Given the description of an element on the screen output the (x, y) to click on. 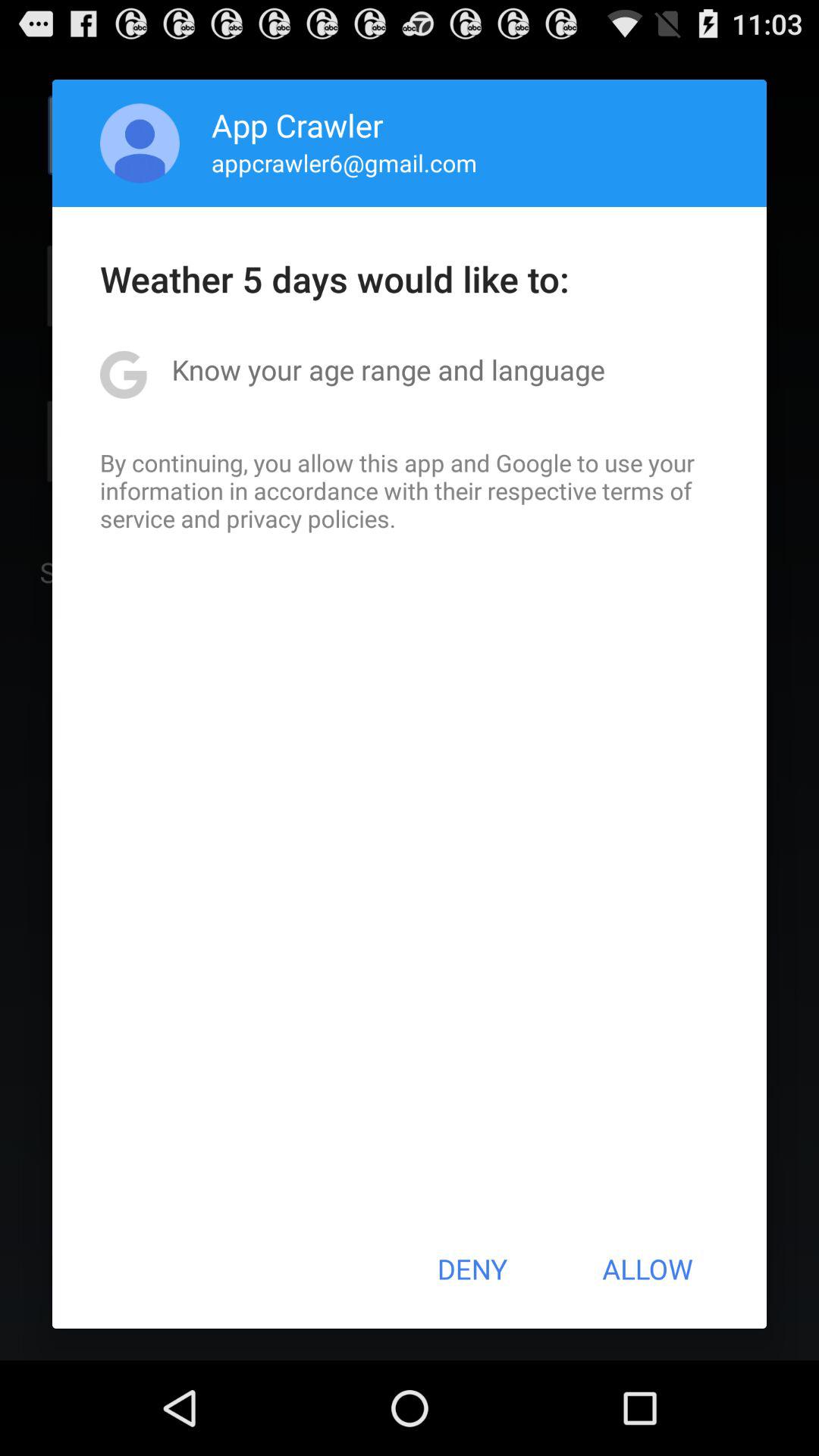
scroll to know your age (388, 369)
